Given the description of an element on the screen output the (x, y) to click on. 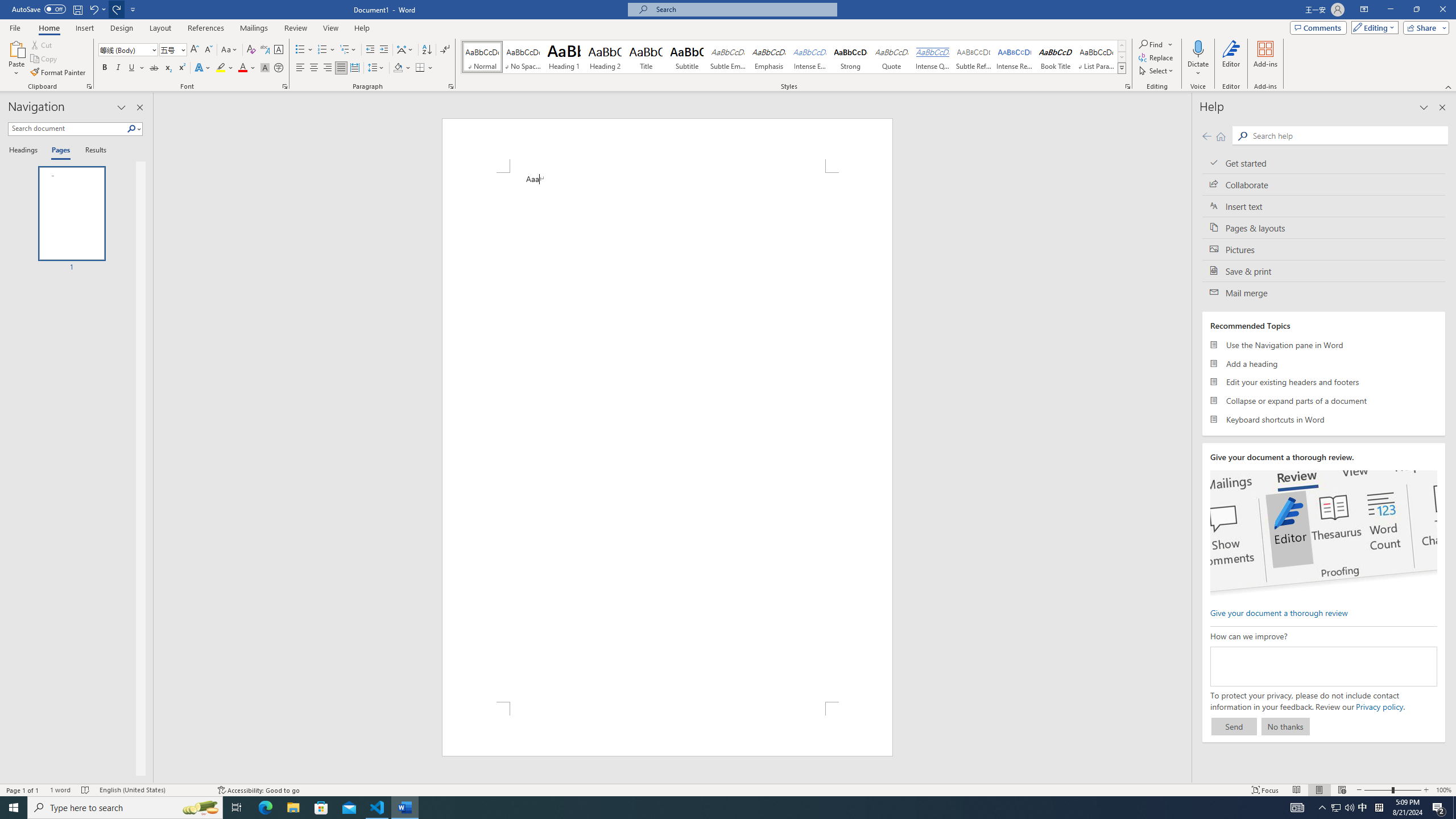
Collaborate (1323, 184)
Paragraph... (450, 85)
Class: MsoCommandBar (728, 789)
How can we improve? (1323, 666)
Shrink Font (208, 49)
Character Border (278, 49)
Mail merge (1323, 292)
Subtitle (686, 56)
